Given the description of an element on the screen output the (x, y) to click on. 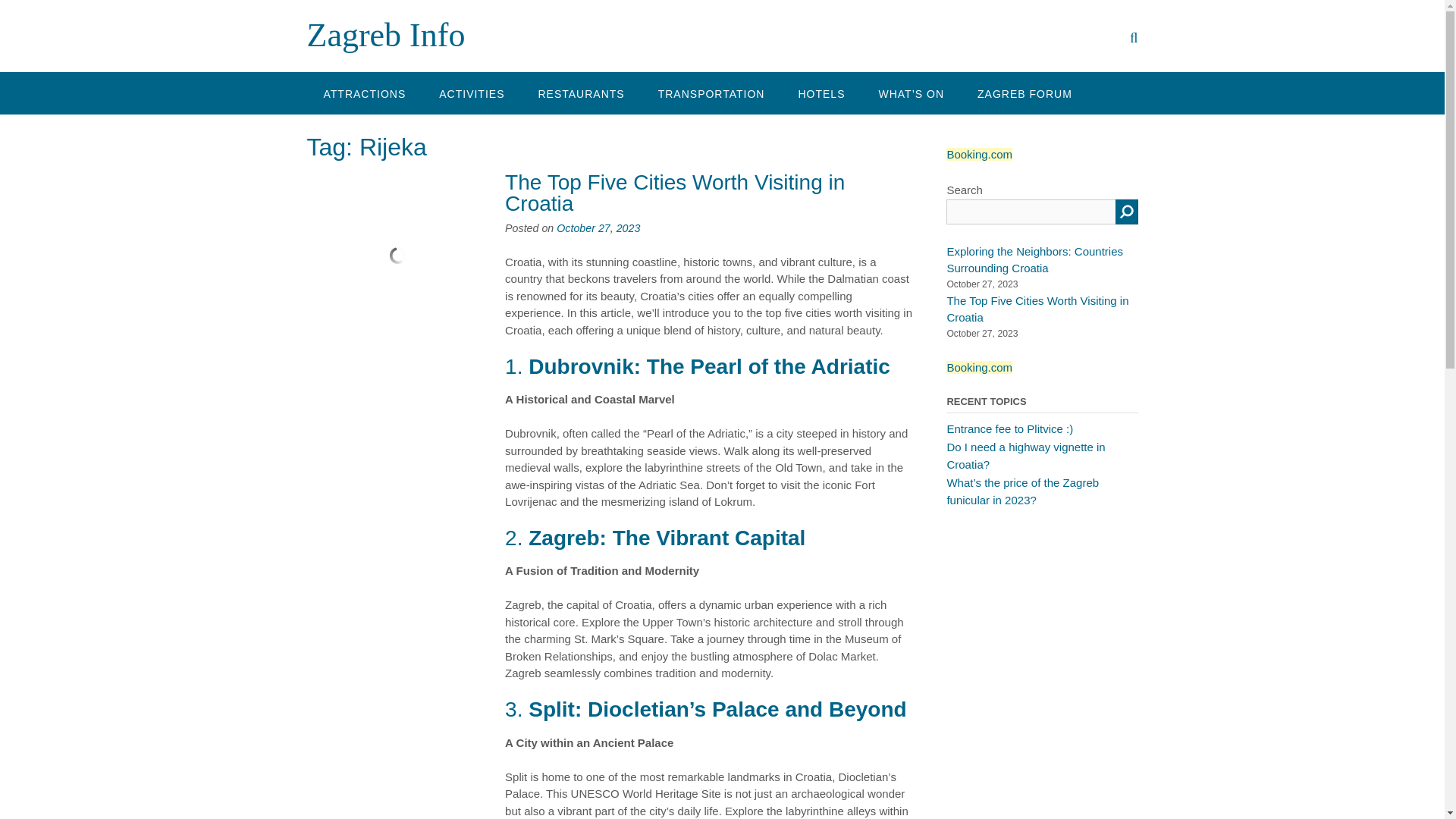
ZAGREB FORUM (1024, 92)
Booking.com (978, 153)
Booking.com (978, 367)
TRANSPORTATION (711, 92)
October 27, 2023 (598, 227)
RESTAURANTS (580, 92)
Do I need a highway vignette in Croatia? (1025, 455)
The Top Five Cities Worth Visiting in Croatia (674, 192)
Exploring the Neighbors: Countries Surrounding Croatia (1034, 259)
Zagreb Info (384, 35)
